Given the description of an element on the screen output the (x, y) to click on. 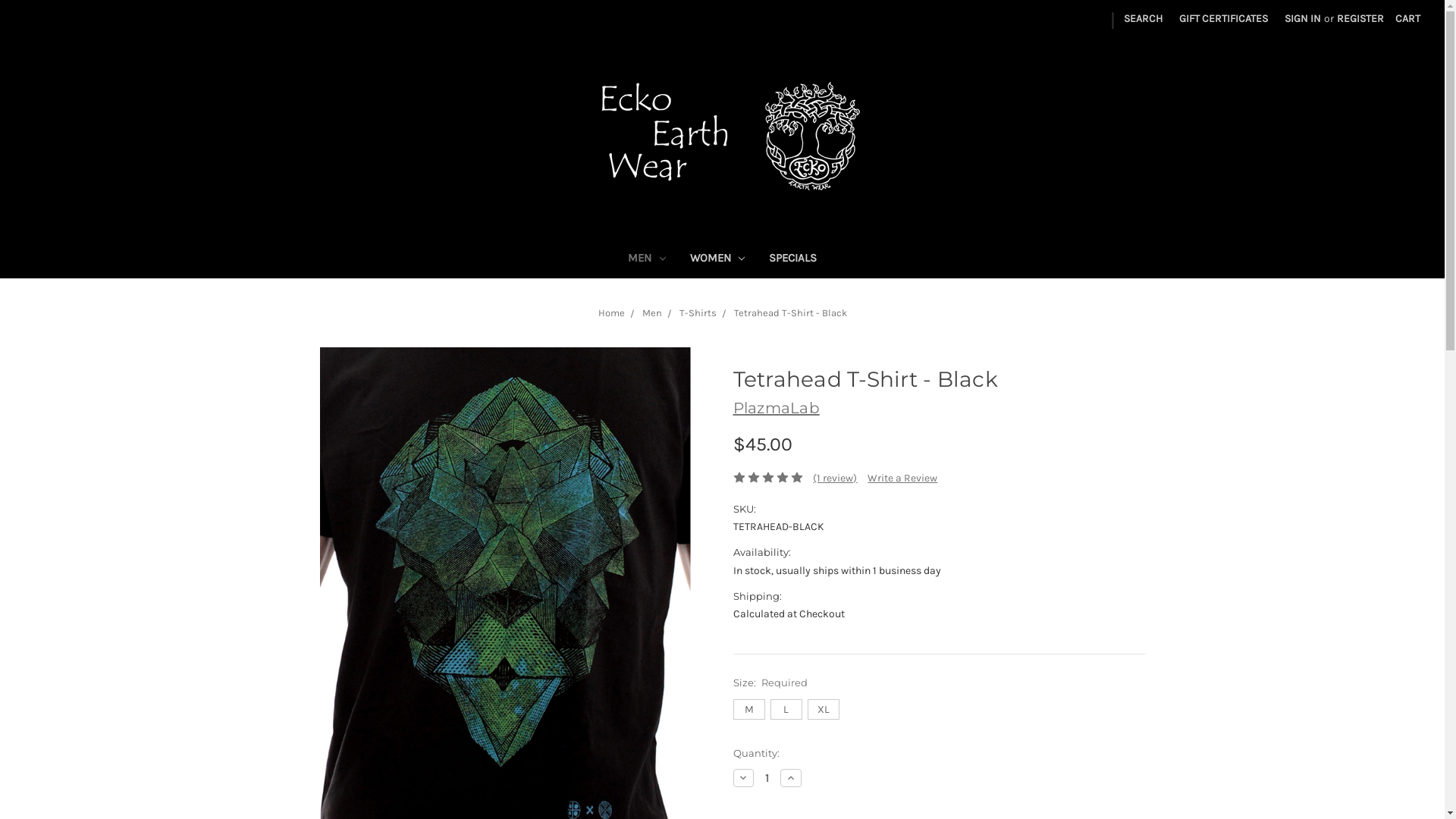
Men Element type: text (651, 312)
Ecko Earth Wear Element type: hover (722, 136)
MEN Element type: text (646, 259)
Home Element type: text (610, 312)
SEARCH Element type: text (1142, 18)
Write a Review Element type: text (902, 477)
CART Element type: text (1407, 18)
WOMEN Element type: text (717, 259)
T-Shirts Element type: text (697, 312)
Decrease Quantity: Element type: text (742, 777)
SPECIALS Element type: text (792, 259)
Increase Quantity: Element type: text (790, 777)
SIGN IN Element type: text (1302, 18)
PlazmaLab Element type: text (775, 407)
(1 review) Element type: text (834, 477)
GIFT CERTIFICATES Element type: text (1223, 18)
REGISTER Element type: text (1360, 18)
